Given the description of an element on the screen output the (x, y) to click on. 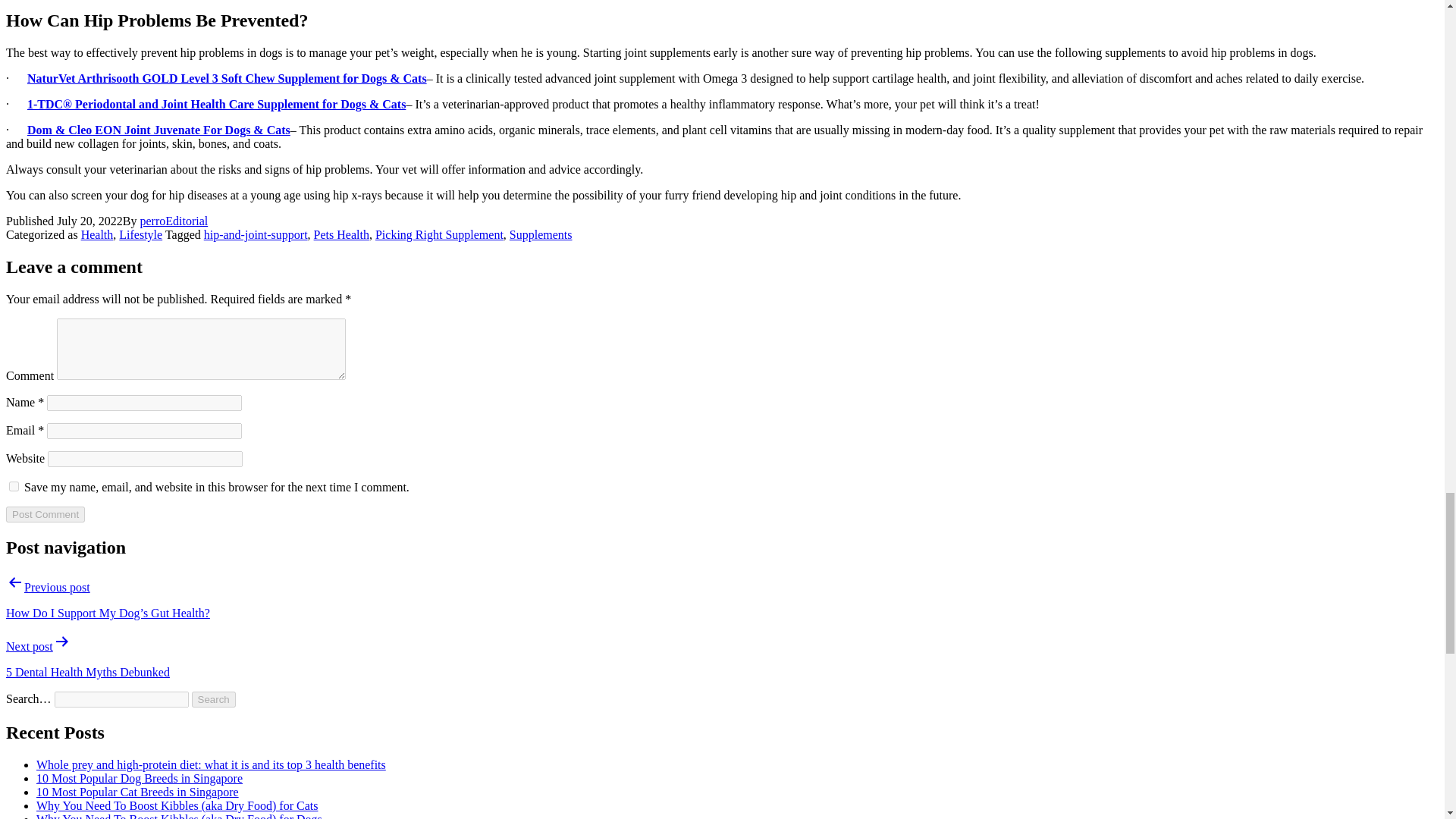
Search (213, 699)
Search (213, 699)
Post Comment (44, 514)
yes (13, 486)
